Given the description of an element on the screen output the (x, y) to click on. 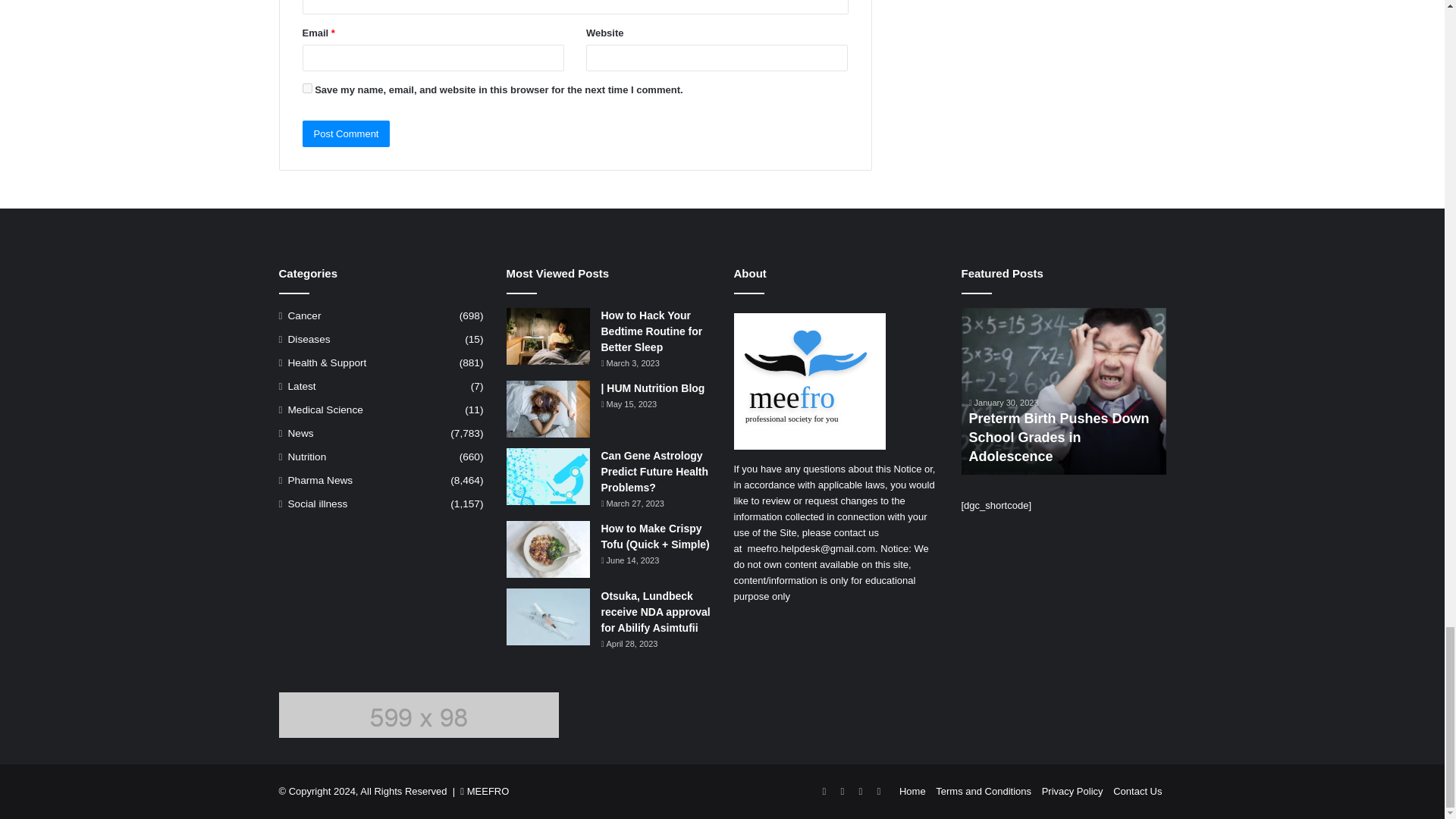
Post Comment (345, 133)
yes (306, 88)
